Given the description of an element on the screen output the (x, y) to click on. 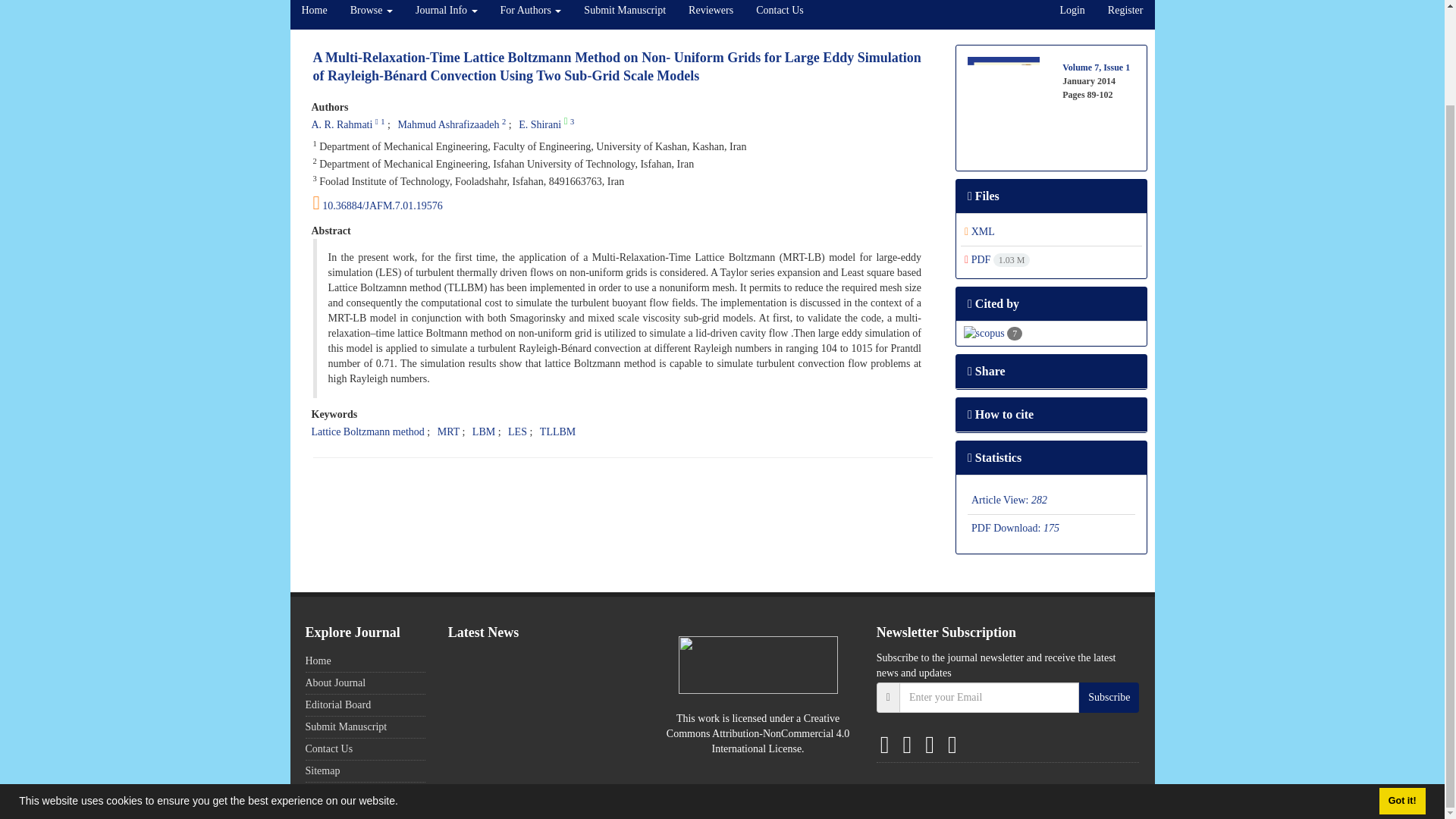
Home (313, 14)
Browse (371, 14)
Reviewers (710, 14)
Submit Manuscript (624, 14)
For Authors (531, 14)
Lattice Boltzmann method (367, 431)
Contact Us (779, 14)
Got it! (1401, 691)
A. R. Rahmati (341, 124)
Login (1072, 14)
